Given the description of an element on the screen output the (x, y) to click on. 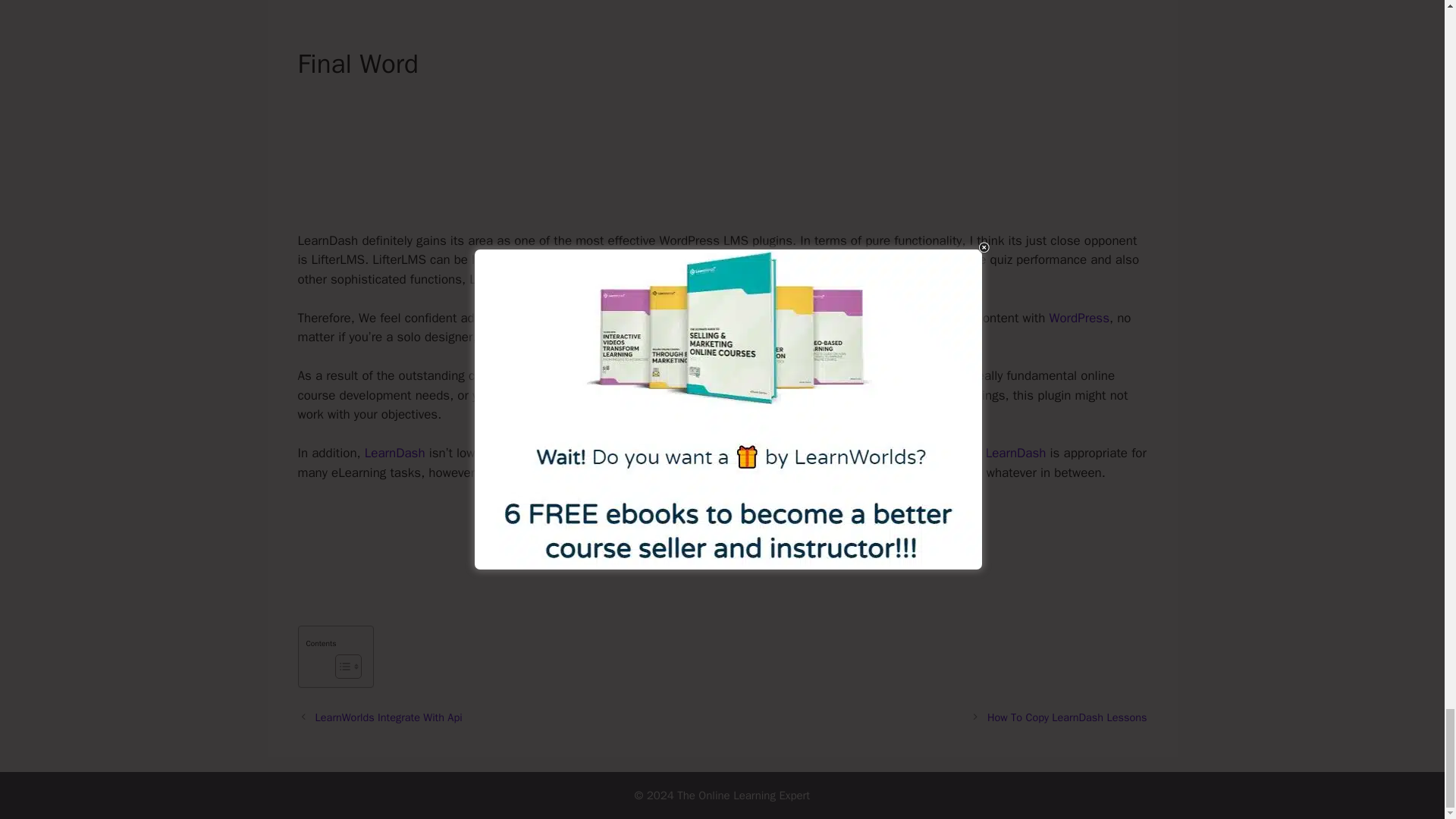
WordPress (1079, 317)
Begin To Develop Your Course Now (722, 544)
How To Copy LearnDash Lessons (1067, 716)
online course (908, 317)
LearnDash (1015, 453)
LearnWorlds Integrate With Api (389, 716)
a worker training (643, 336)
LearnDash (395, 453)
